Given the description of an element on the screen output the (x, y) to click on. 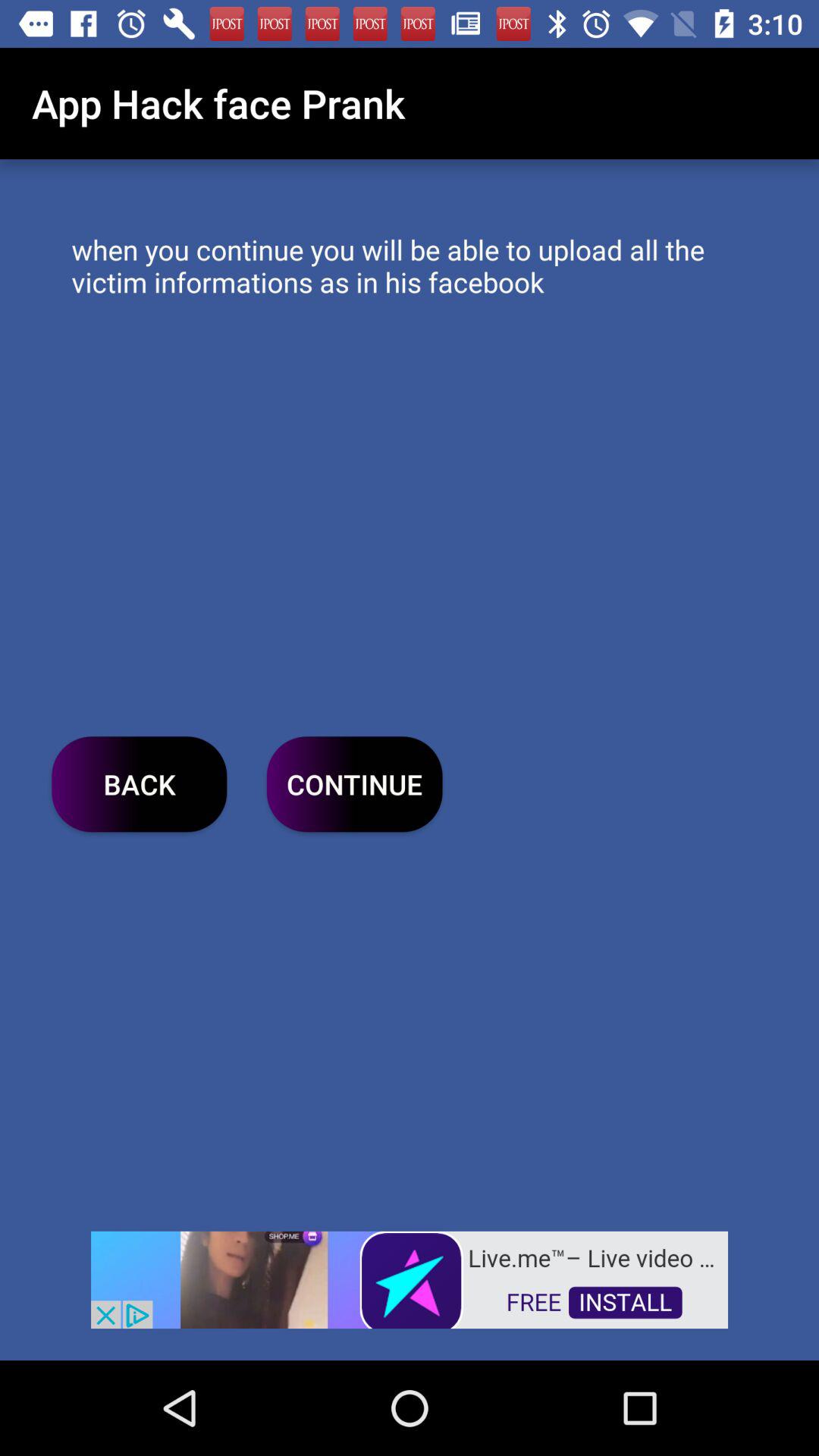
advertisement link image (409, 1278)
